Given the description of an element on the screen output the (x, y) to click on. 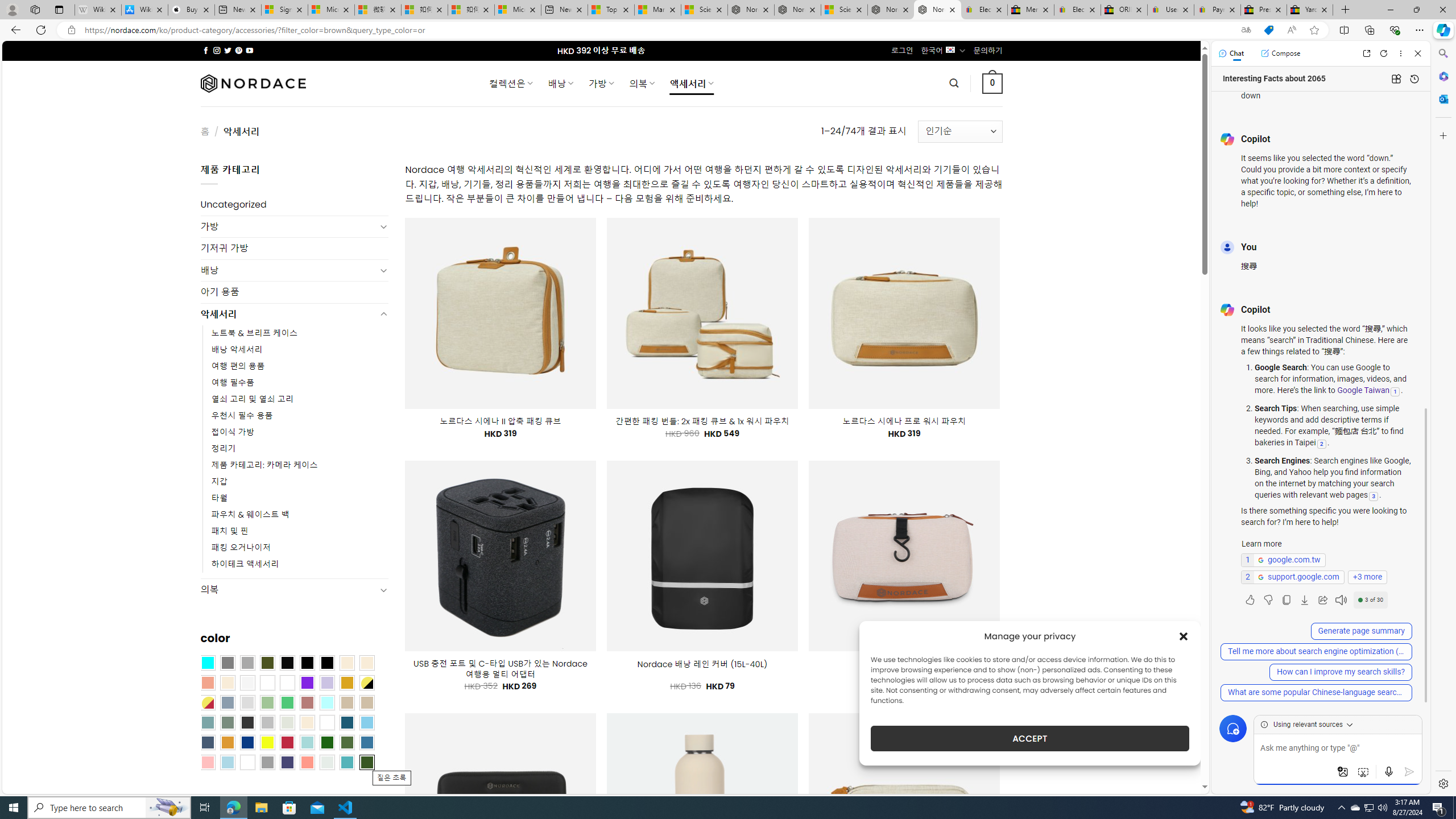
Dull Nickle (327, 762)
Buy iPad - Apple (191, 9)
Chat (1231, 52)
Follow on Instagram (216, 50)
